Given the description of an element on the screen output the (x, y) to click on. 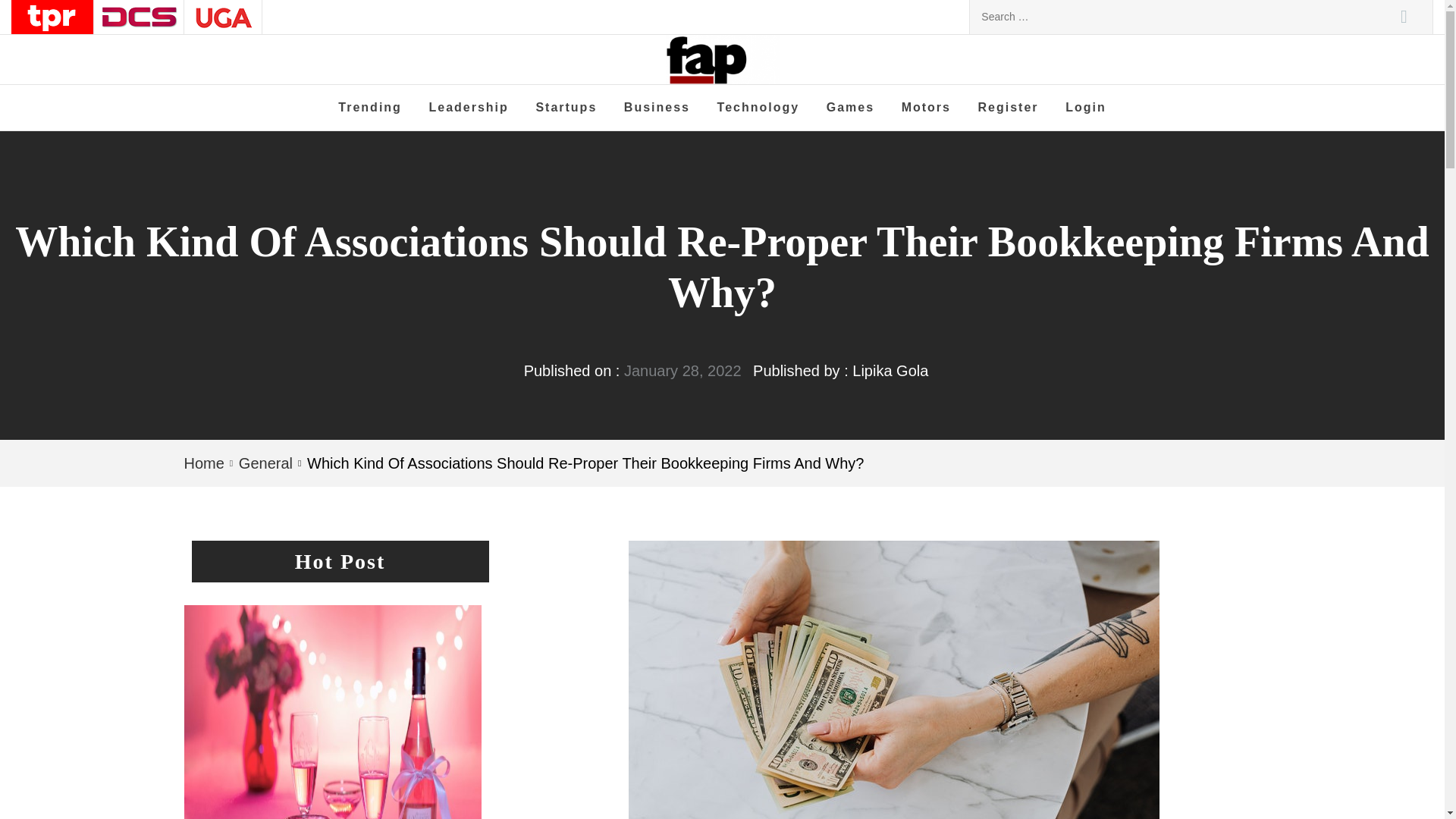
Register (1007, 107)
General (264, 463)
Technology (758, 107)
Trending (369, 107)
Startups (566, 107)
Search (1403, 17)
Leadership (467, 107)
January 28, 2022 (682, 370)
Home (205, 463)
